Given the description of an element on the screen output the (x, y) to click on. 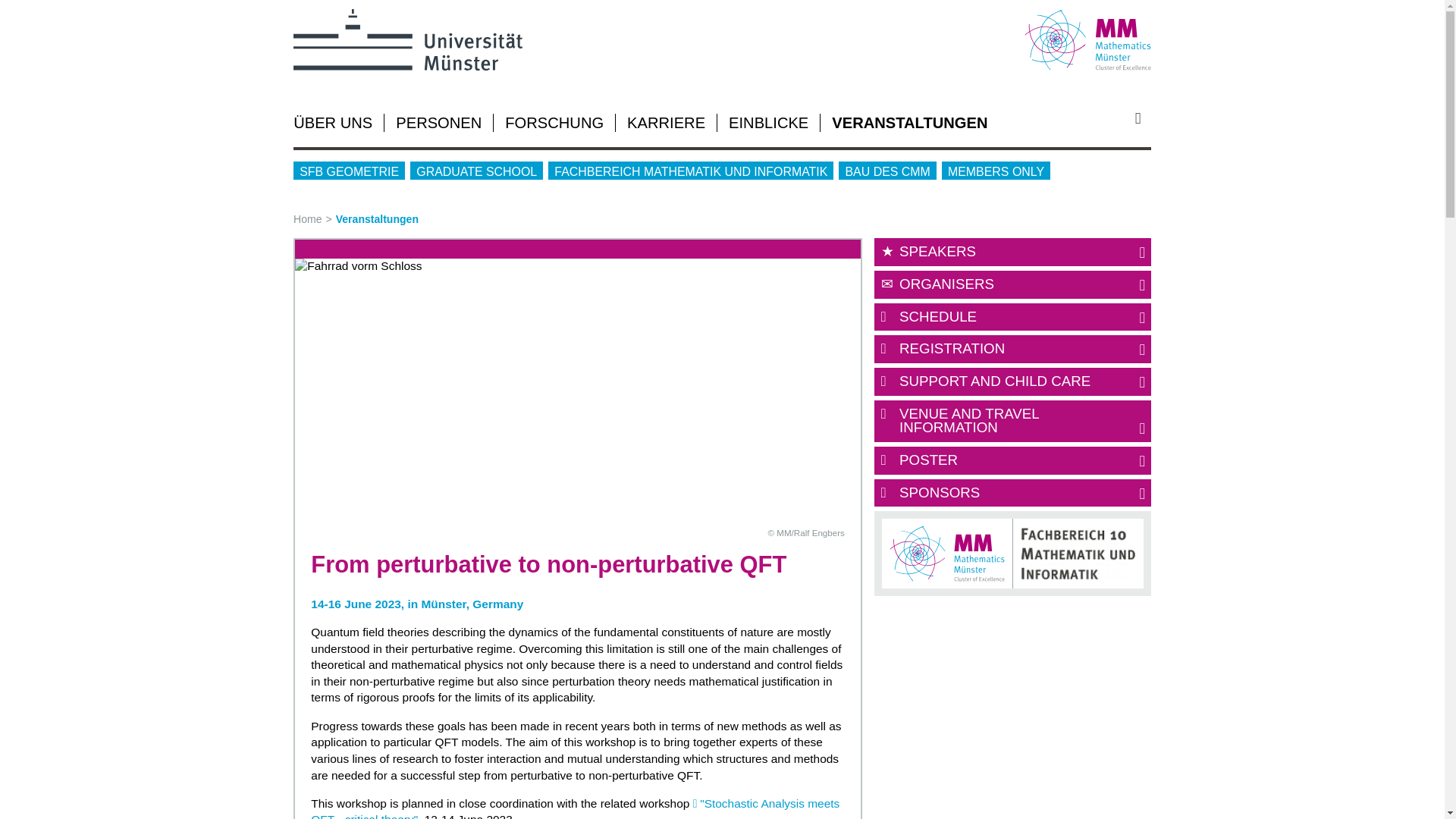
BAU DES CMM (887, 170)
FACHBEREICH MATHEMATIK UND INFORMATIK (690, 170)
PERSONEN (438, 122)
EINBLICKE (768, 122)
Deutsch (1118, 106)
"Stochastic Analysis meets QFT - critical theory" (575, 807)
MEMBERS ONLY (995, 170)
English (1142, 106)
Los (1143, 118)
Home (315, 218)
VERANSTALTUNGEN (909, 122)
KARRIERE (665, 122)
Los (1143, 118)
FORSCHUNG (554, 122)
Los (1143, 118)
